Given the description of an element on the screen output the (x, y) to click on. 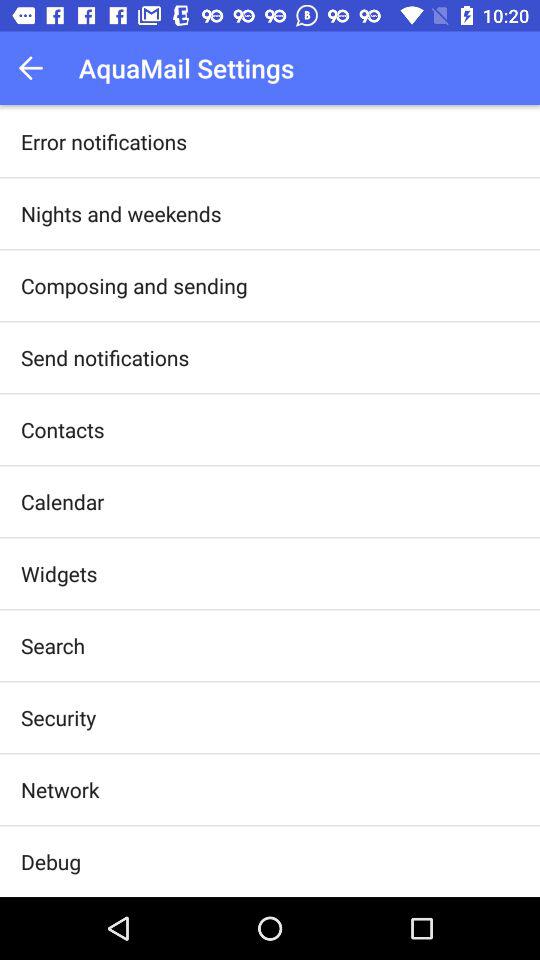
select item below the composing and sending app (105, 357)
